Given the description of an element on the screen output the (x, y) to click on. 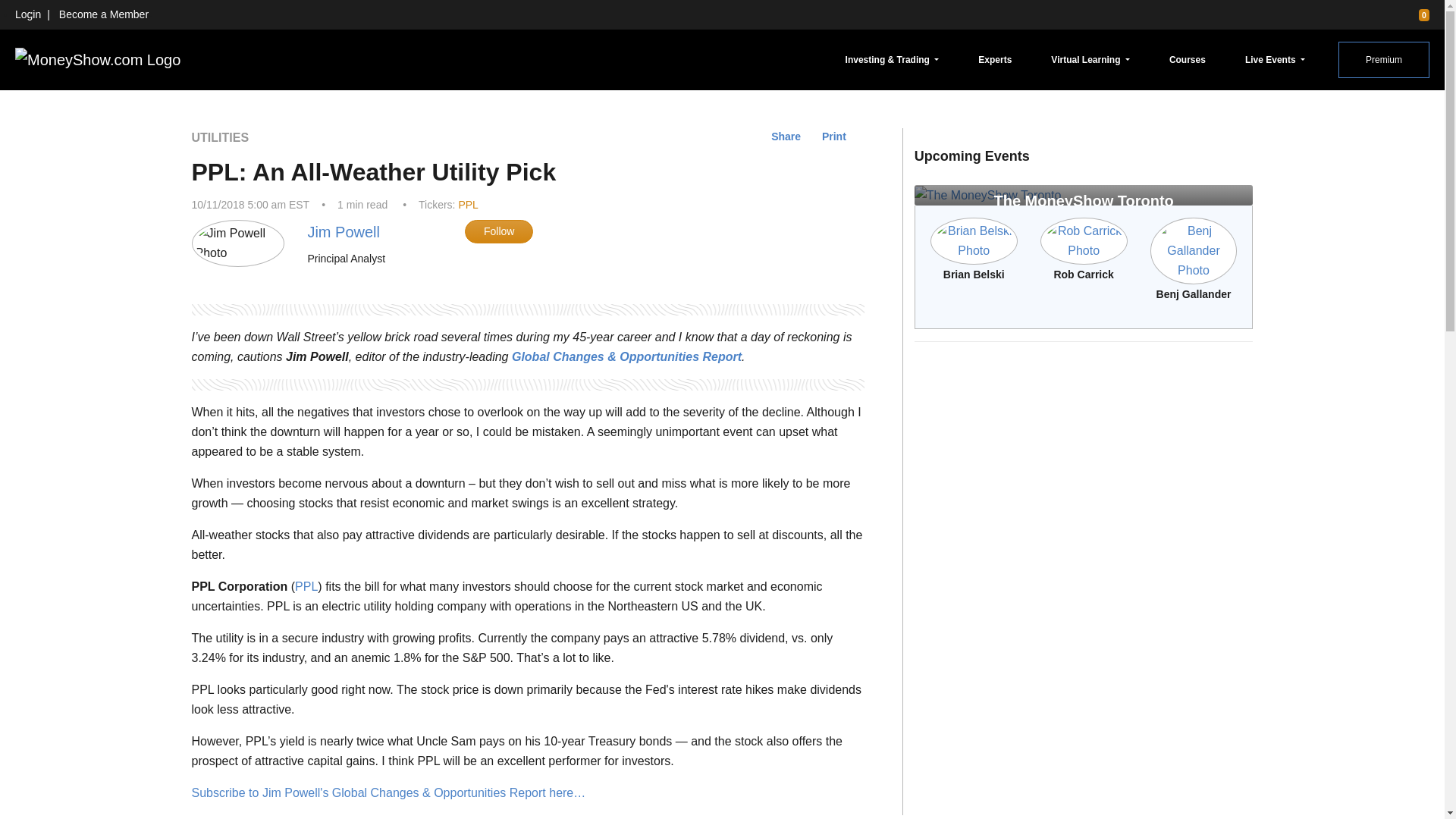
Become a Member (103, 14)
PPL (467, 204)
0 (1416, 14)
Virtual Learning (1090, 59)
Login (27, 14)
Advertisement (1083, 459)
Share (785, 136)
Live Events (1275, 59)
Experts (994, 59)
Print (833, 136)
